Given the description of an element on the screen output the (x, y) to click on. 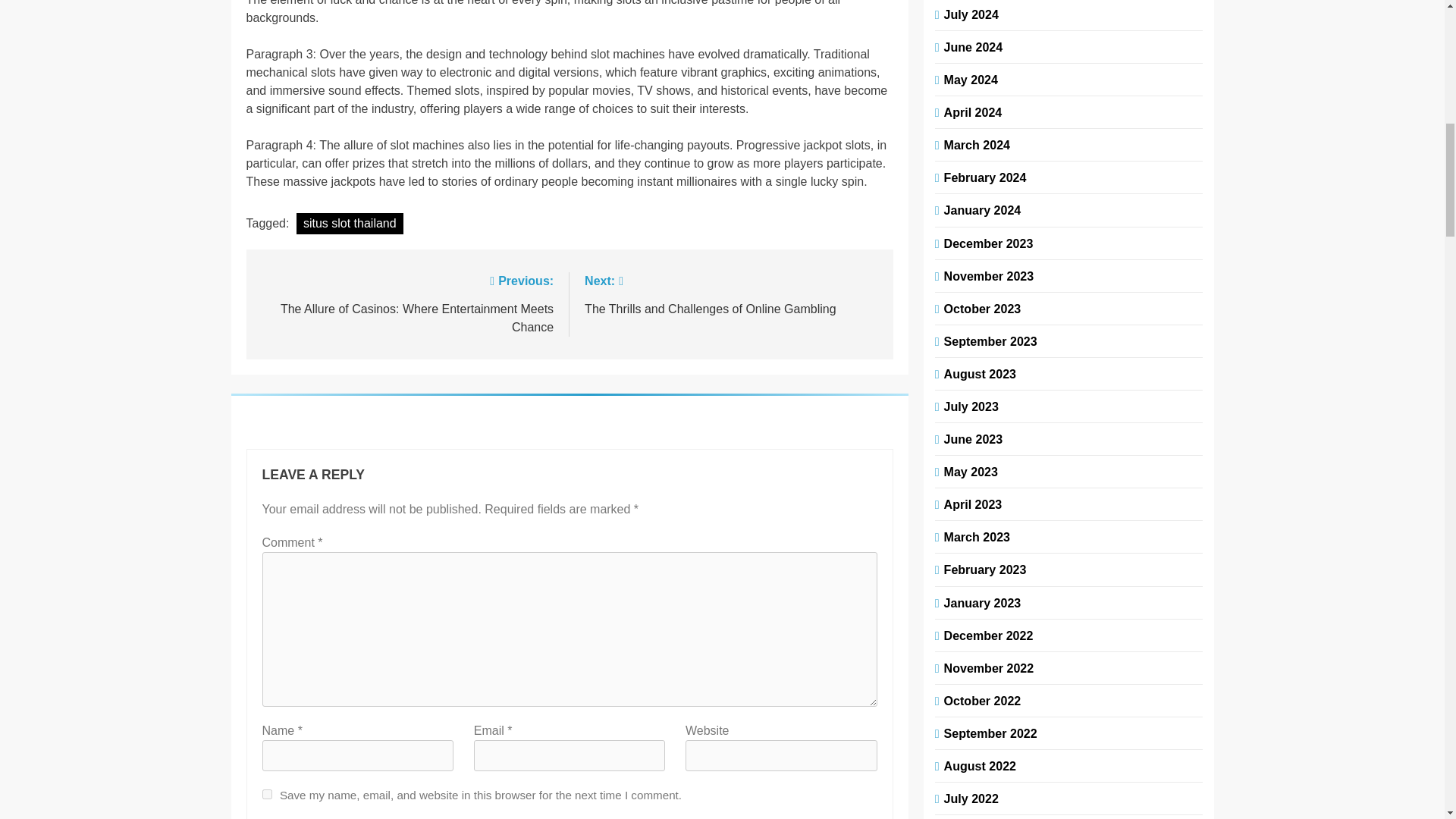
yes (731, 293)
situs slot thailand (267, 794)
